Given the description of an element on the screen output the (x, y) to click on. 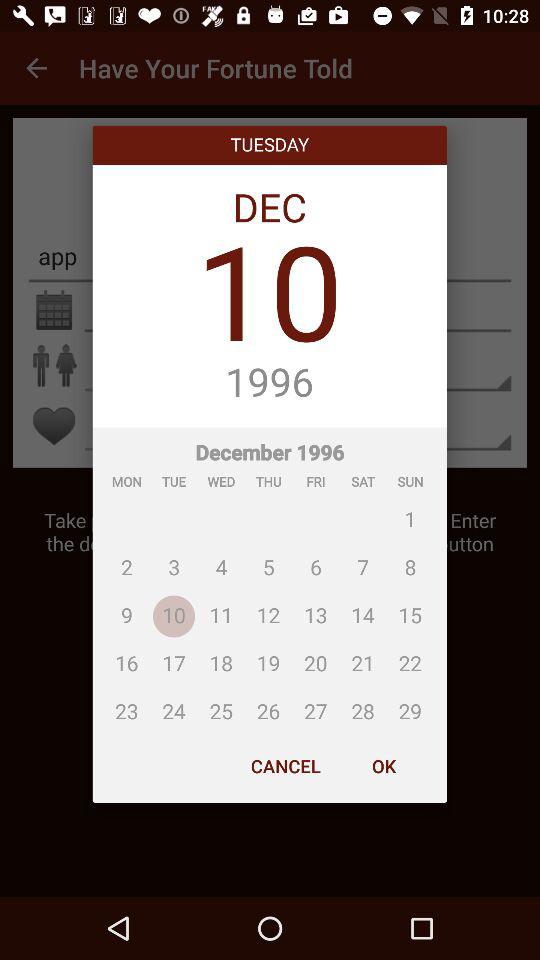
open the item below 1996 (269, 578)
